Given the description of an element on the screen output the (x, y) to click on. 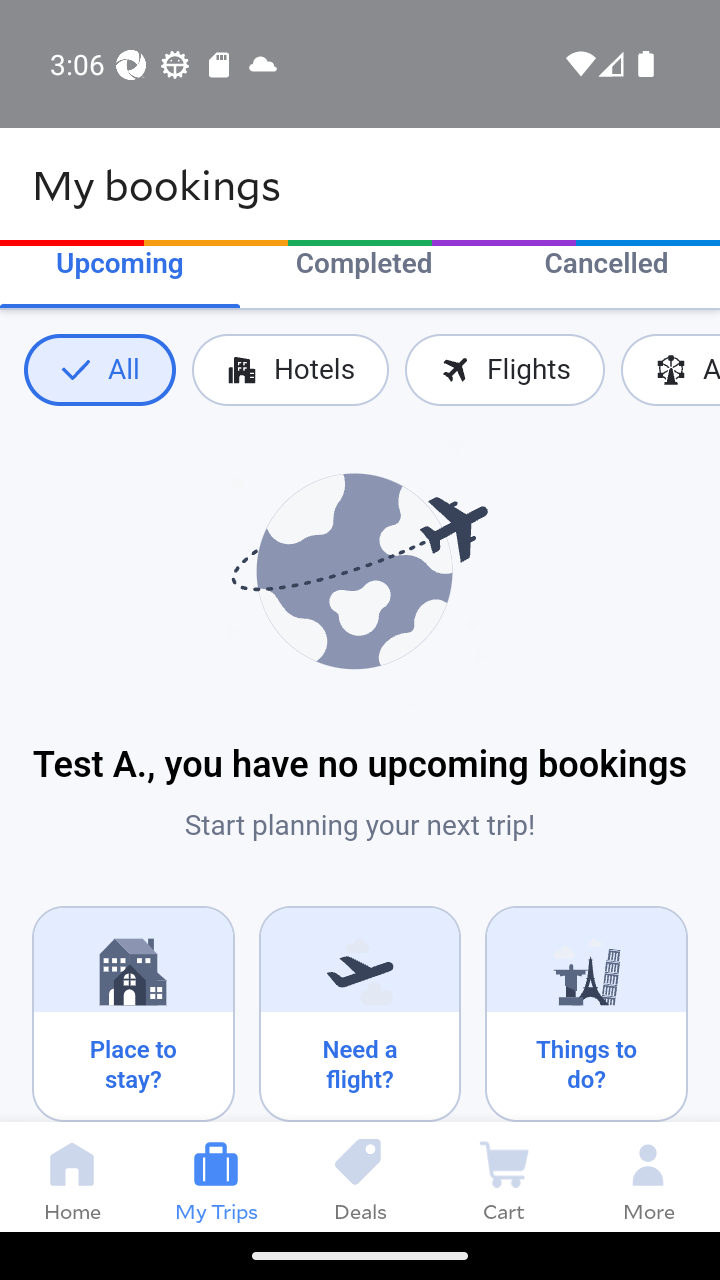
Upcoming (119, 266)
Completed (363, 266)
Cancelled (606, 266)
All (99, 369)
Hotels (290, 369)
Flights (504, 369)
Activities (669, 369)
Home (72, 1176)
My Trips (216, 1176)
Deals (360, 1176)
Cart (504, 1176)
More (648, 1176)
